Given the description of an element on the screen output the (x, y) to click on. 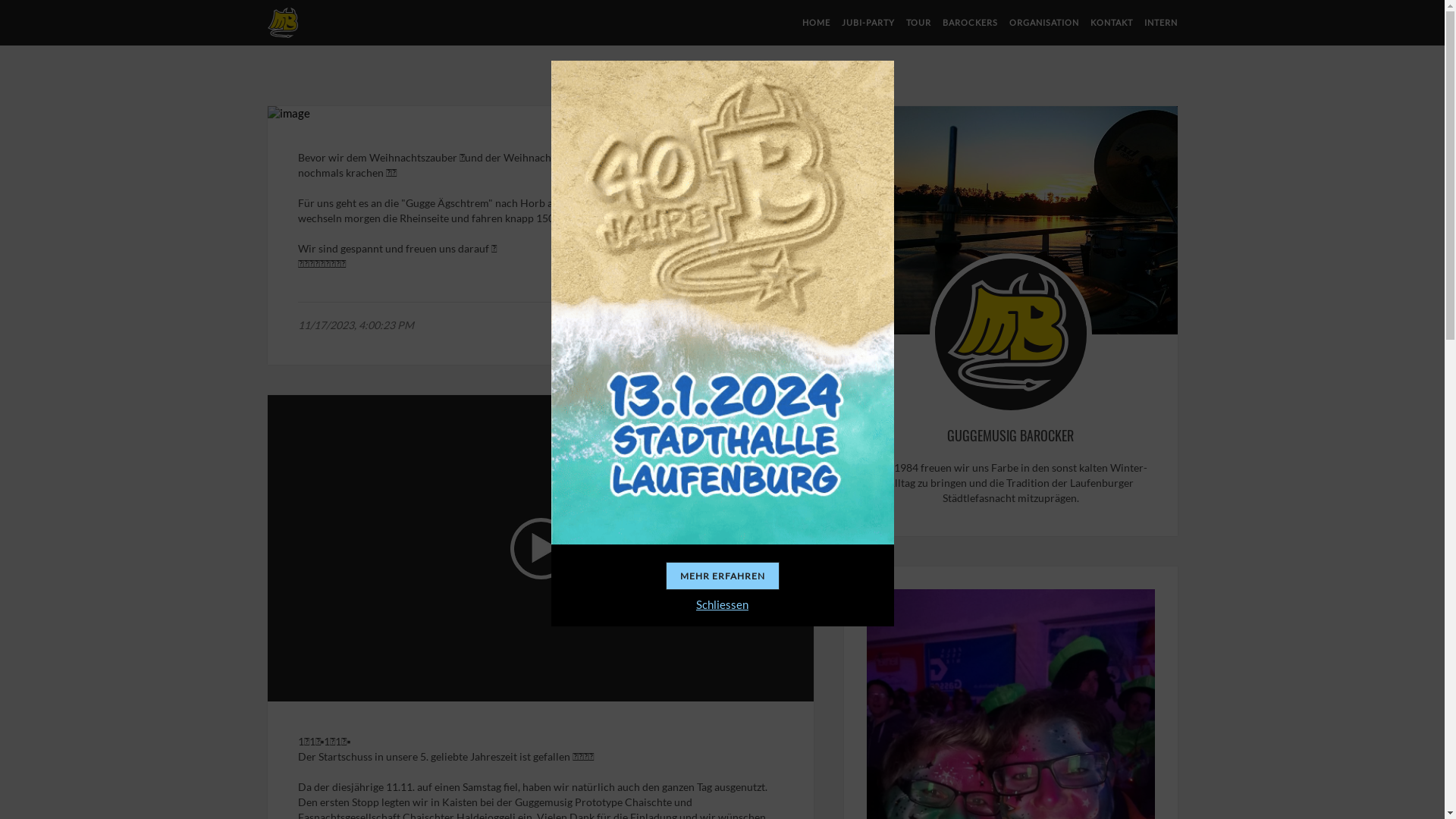
Schliessen Element type: text (721, 604)
MEHR ERFAHREN Element type: text (722, 575)
TOUR Element type: text (917, 22)
KONTAKT Element type: text (1111, 22)
INTERN Element type: text (1159, 22)
f Element type: text (770, 325)
HOME Element type: text (816, 22)
BAROCKERS Element type: text (969, 22)
ORGANISATION Element type: text (1043, 22)
JUBI-PARTY Element type: text (867, 22)
